Given the description of an element on the screen output the (x, y) to click on. 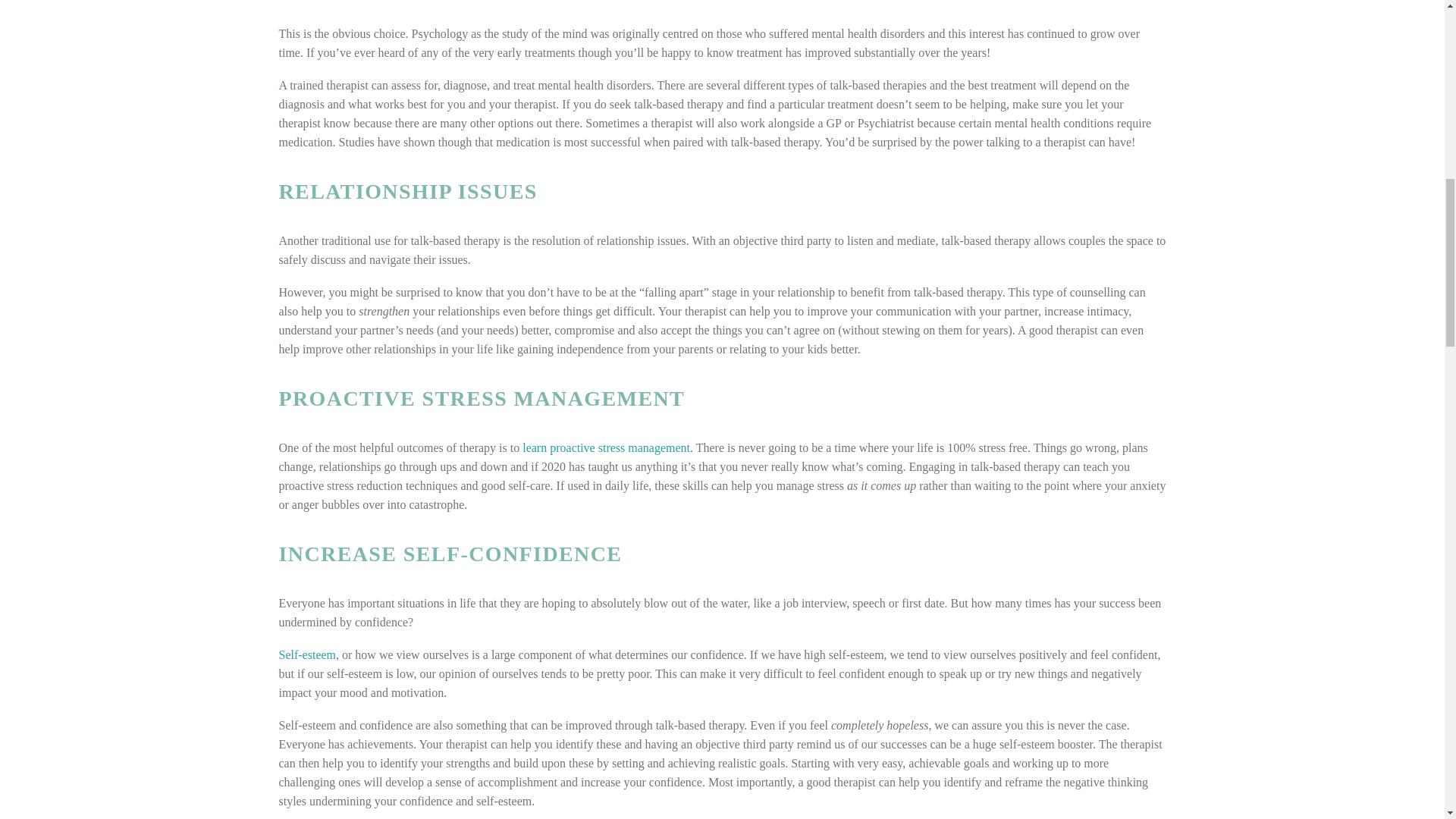
Self-esteem (307, 654)
learn proactive stress management (606, 447)
